Given the description of an element on the screen output the (x, y) to click on. 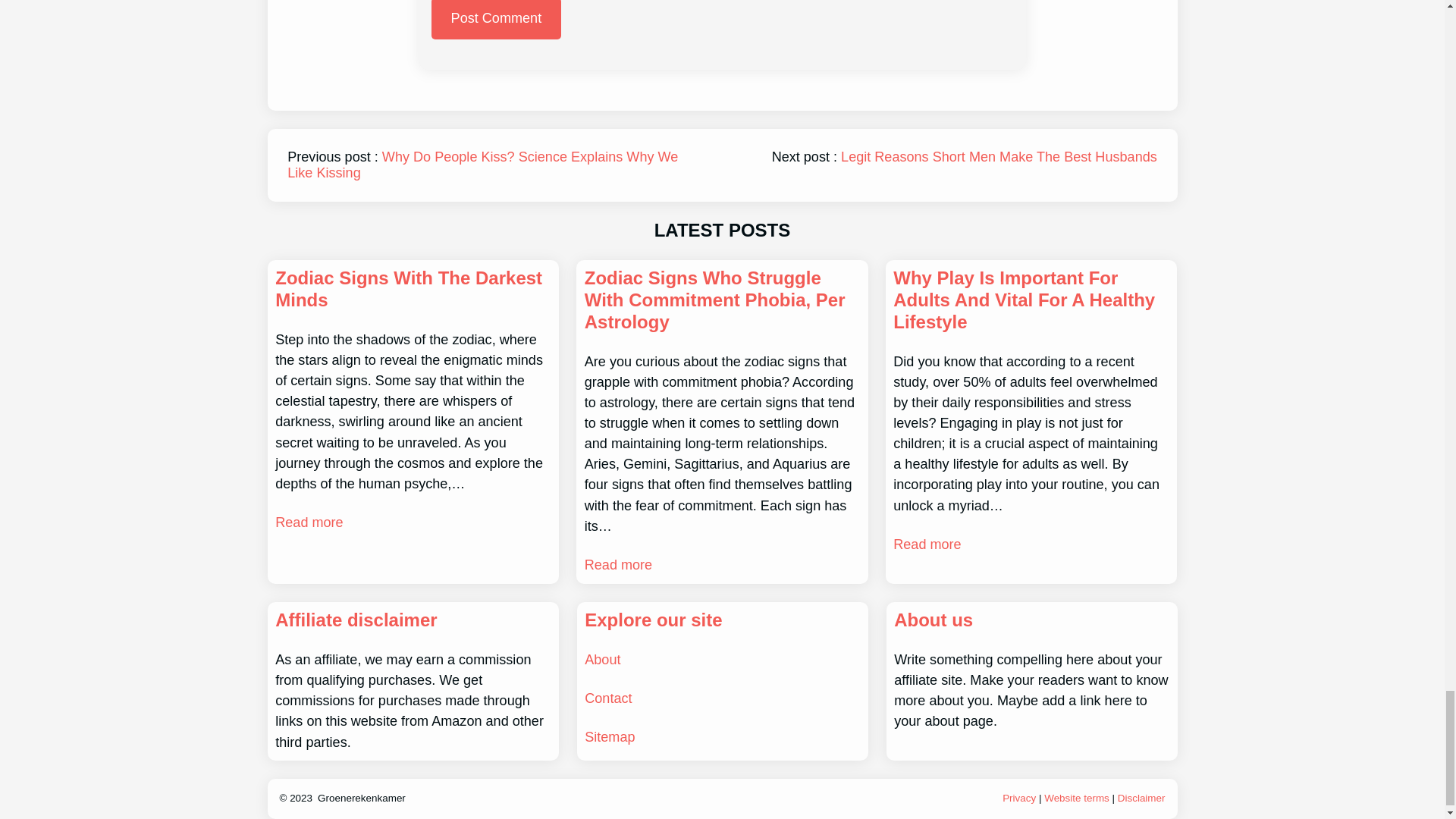
Contact (608, 698)
Read more (618, 565)
Post Comment (495, 19)
Why Do People Kiss? Science Explains Why We Like Kissing (482, 164)
Legit Reasons Short Men Make The Best Husbands (999, 156)
Zodiac Signs With The Darkest Minds (412, 289)
Website terms (1076, 797)
Read more (926, 544)
Privacy (1019, 797)
About (602, 659)
Read more (308, 522)
Post Comment (495, 19)
Sitemap (609, 736)
Groenerekenkamer (361, 797)
